Given the description of an element on the screen output the (x, y) to click on. 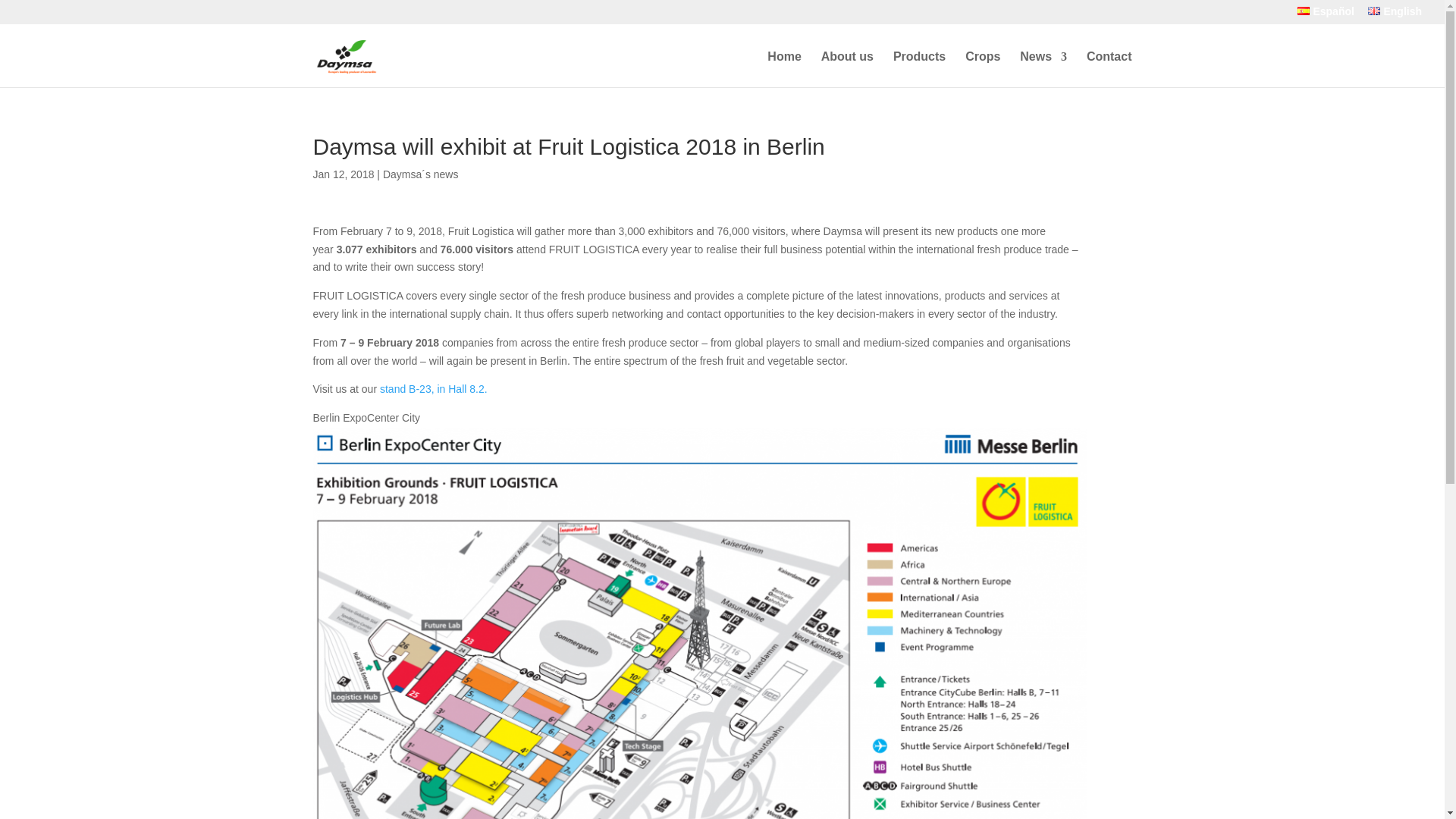
English (1395, 15)
Contact (1109, 68)
News (1043, 68)
stand B-23, in Hall 8.2. (433, 388)
Products (918, 68)
Crops (982, 68)
Home (783, 68)
About us (847, 68)
